Given the description of an element on the screen output the (x, y) to click on. 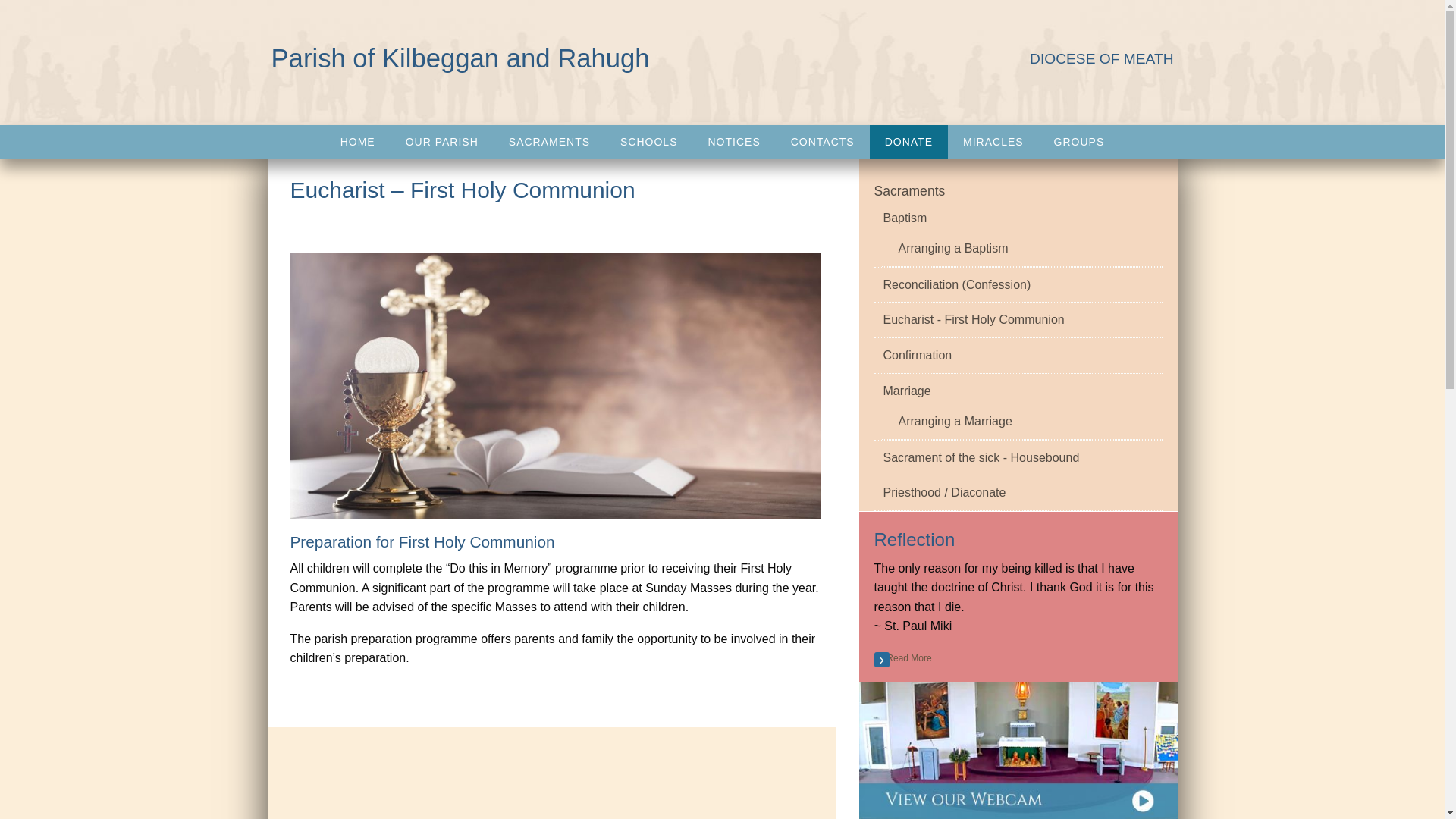
HOME (357, 141)
